Given the description of an element on the screen output the (x, y) to click on. 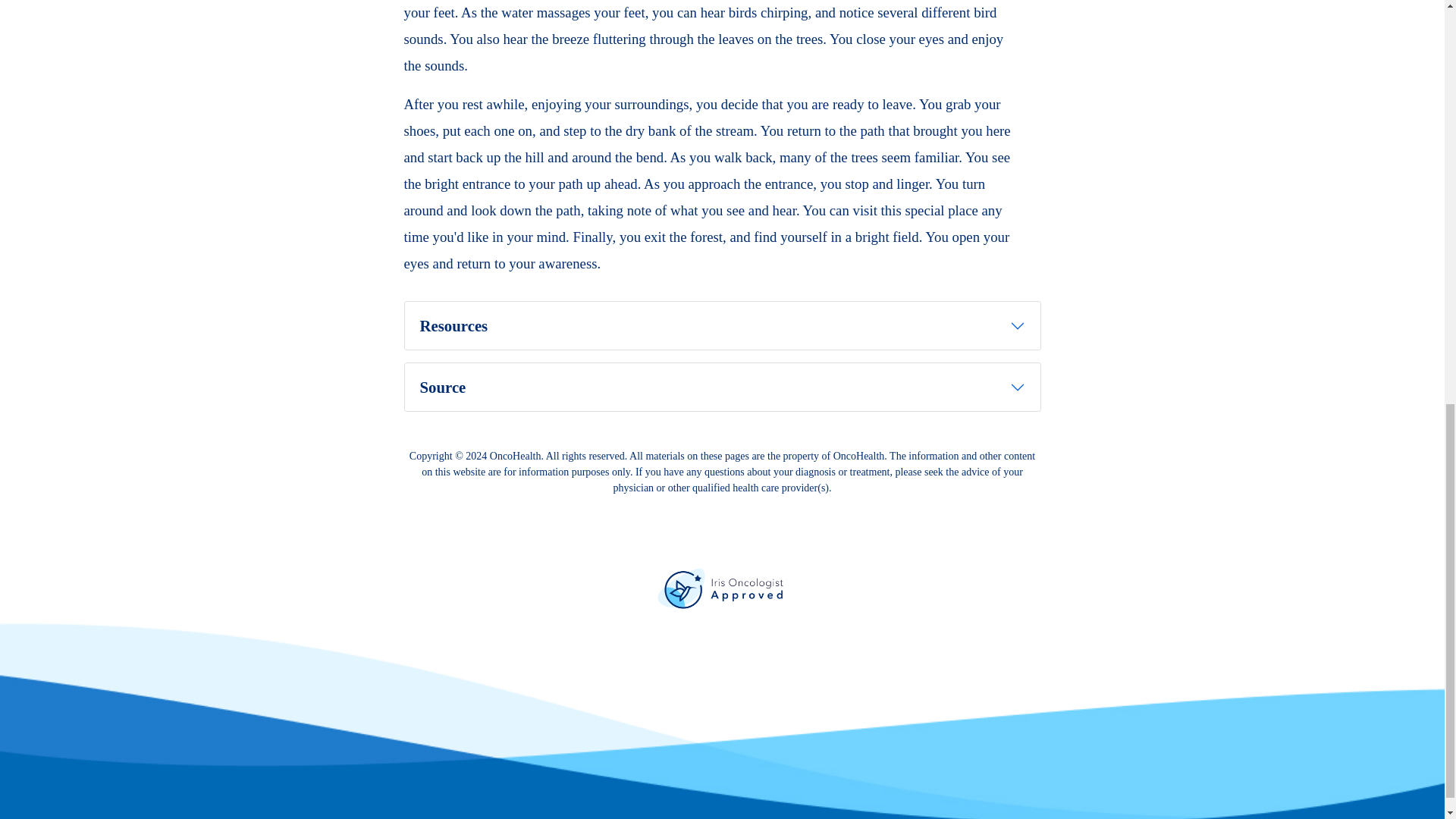
Resources (722, 325)
Source (722, 387)
